Given the description of an element on the screen output the (x, y) to click on. 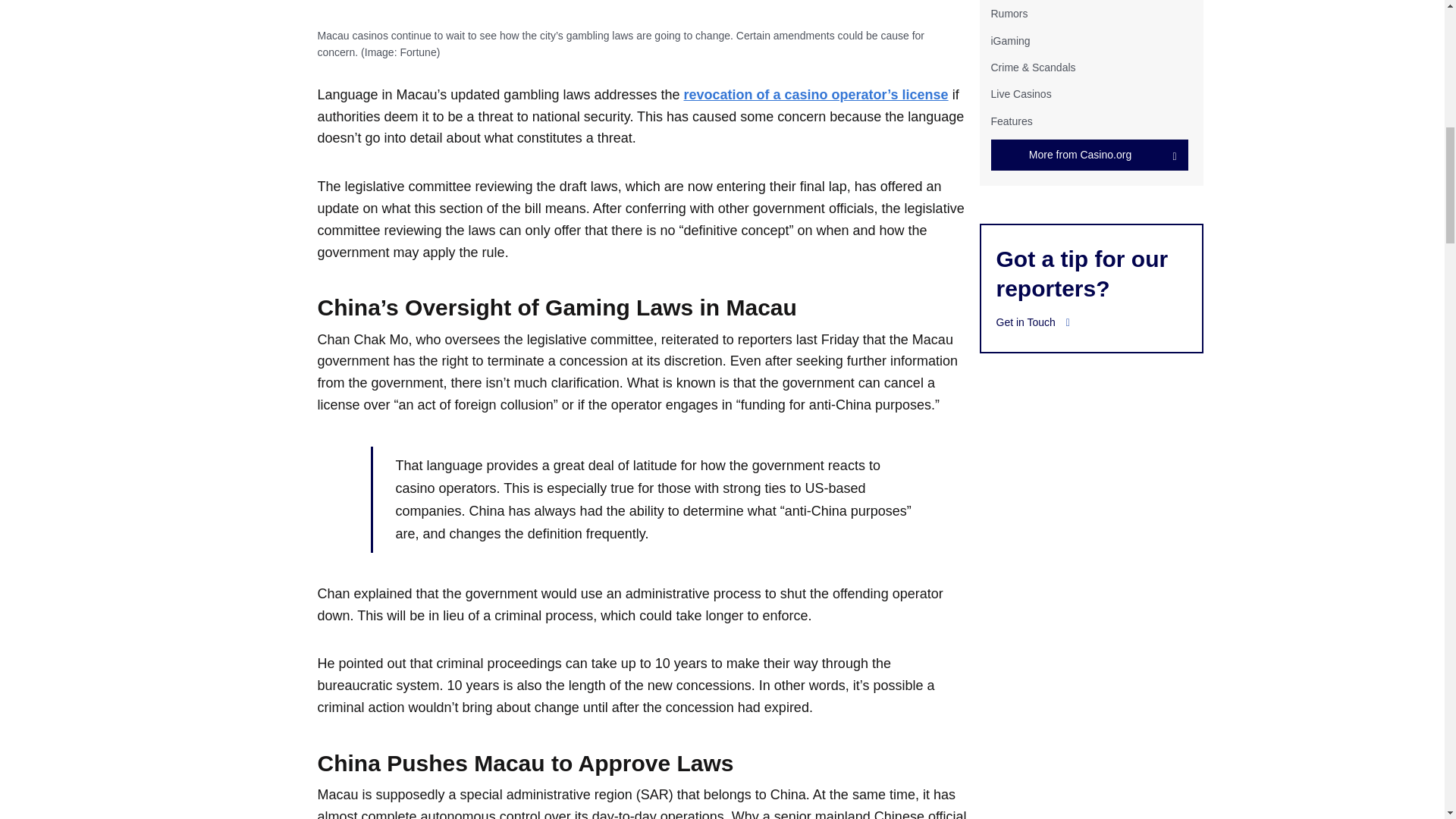
Live Casinos (1020, 93)
Rumors (1008, 13)
Rumors (1008, 13)
Features (1011, 121)
iGaming (1009, 40)
